Given the description of an element on the screen output the (x, y) to click on. 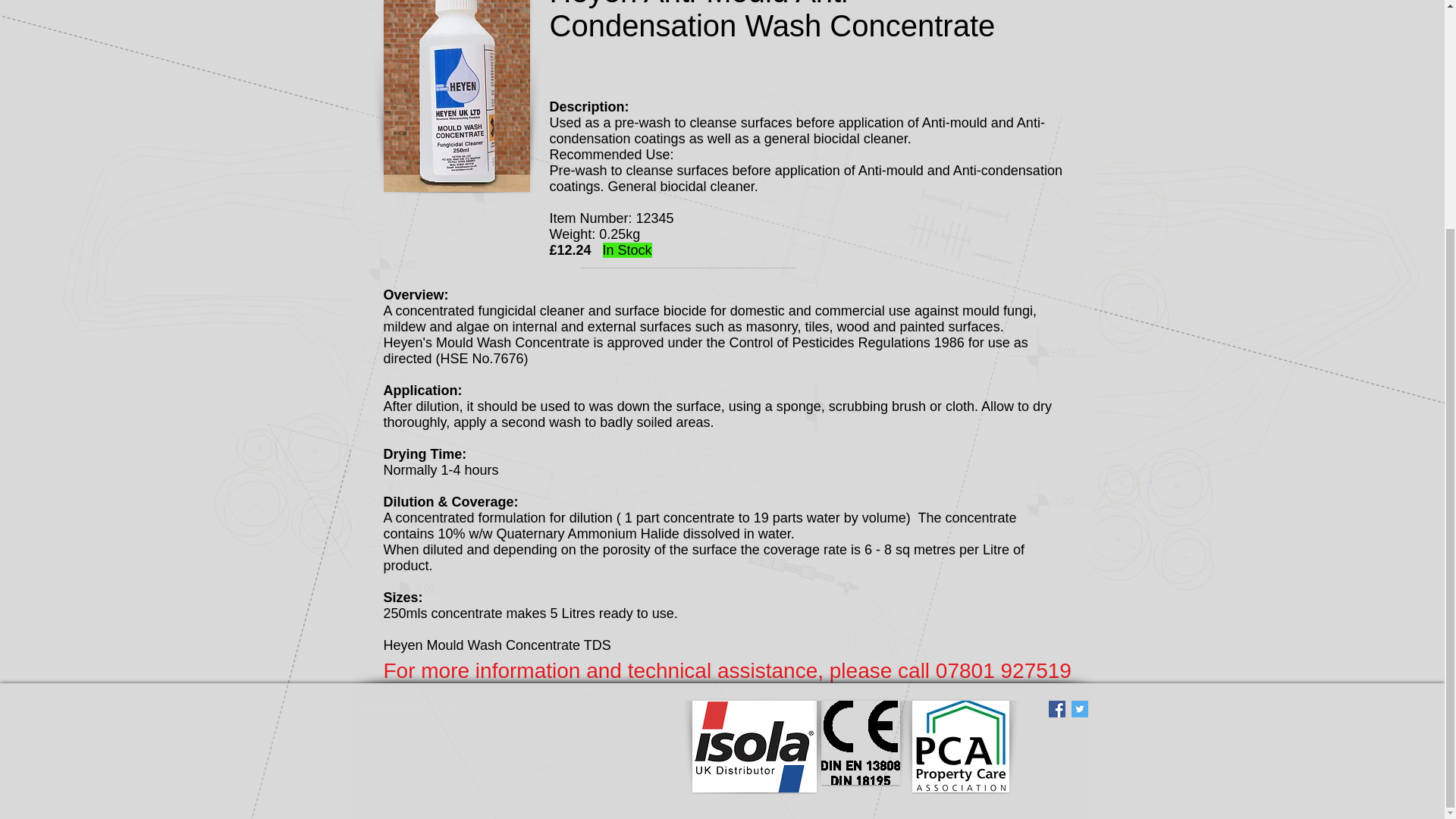
Heyen Mould Wash Concentrate TDS (497, 645)
